Given the description of an element on the screen output the (x, y) to click on. 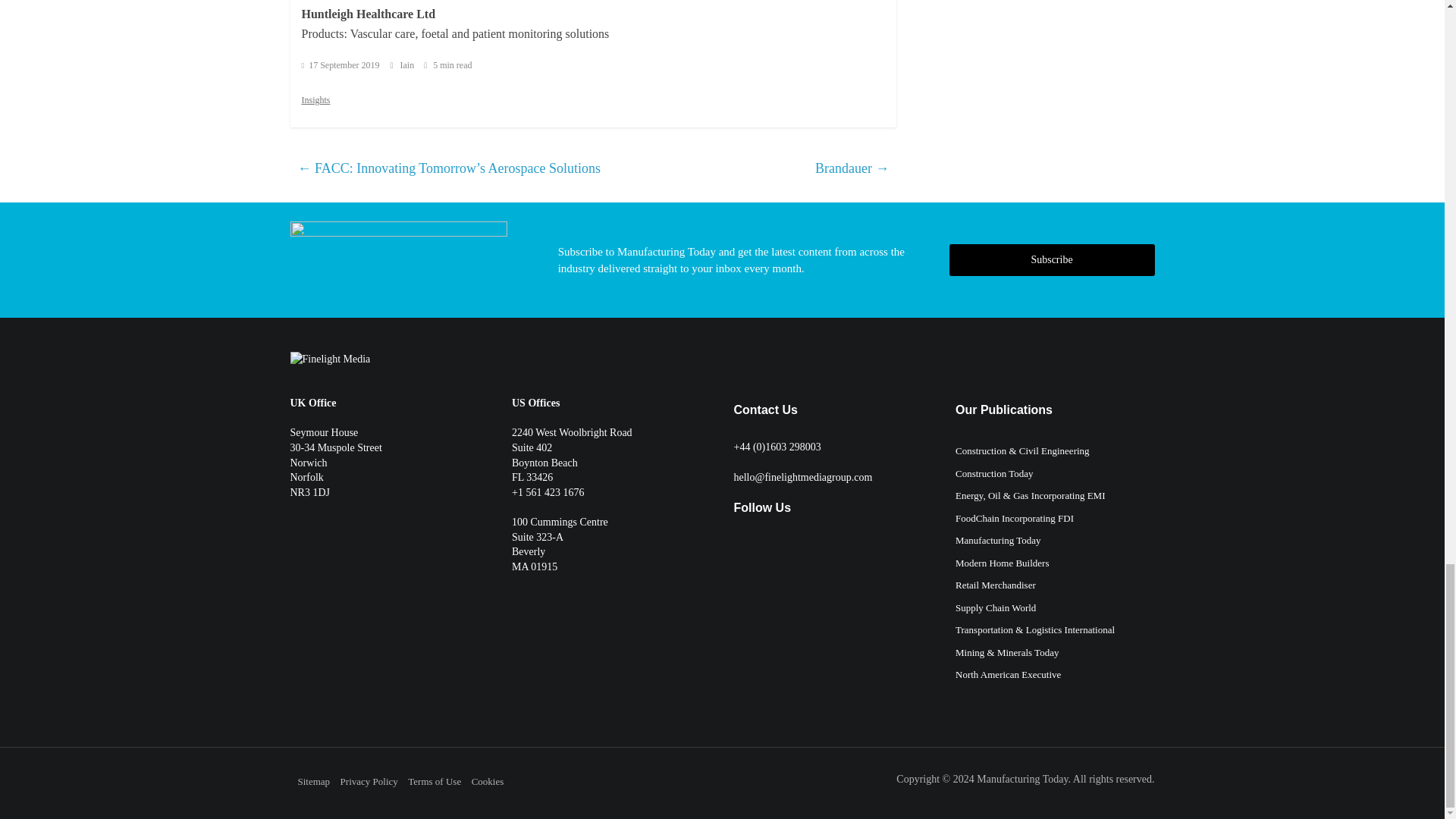
Twitter (739, 547)
Manufacturing Today (1021, 778)
Subscribe (1051, 260)
17 September 2019 (340, 64)
3:00 pm (340, 64)
Iain (408, 64)
Insights (315, 100)
Iain (408, 64)
